Given the description of an element on the screen output the (x, y) to click on. 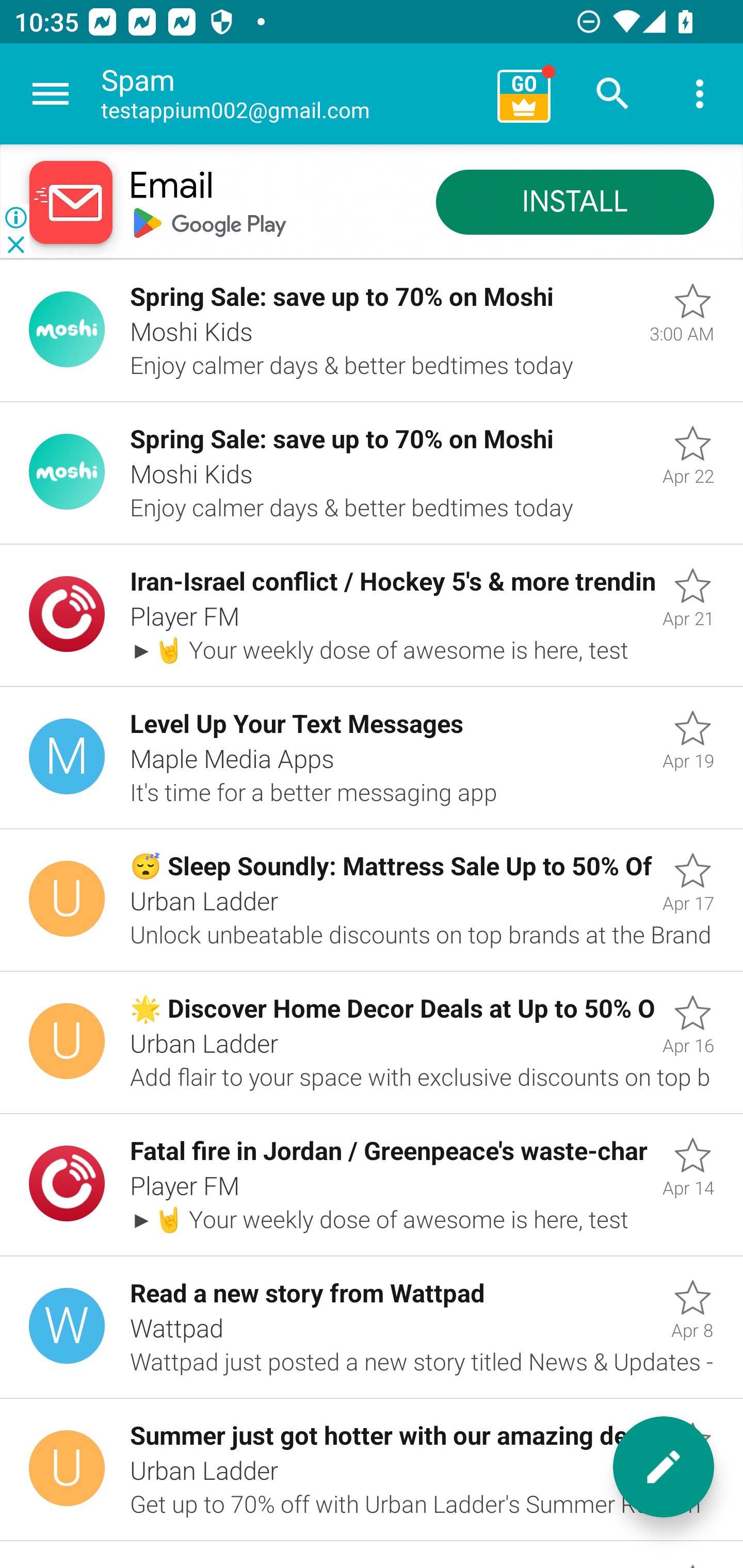
Navigate up (50, 93)
Spam testappium002@gmail.com (291, 93)
Search (612, 93)
More options (699, 93)
New message (663, 1466)
